Given the description of an element on the screen output the (x, y) to click on. 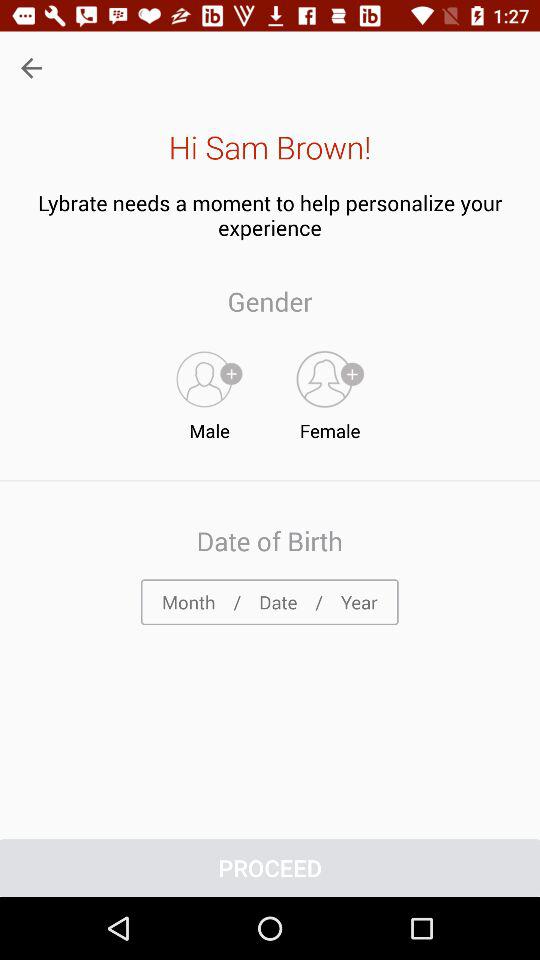
press icon below the gender (209, 391)
